Given the description of an element on the screen output the (x, y) to click on. 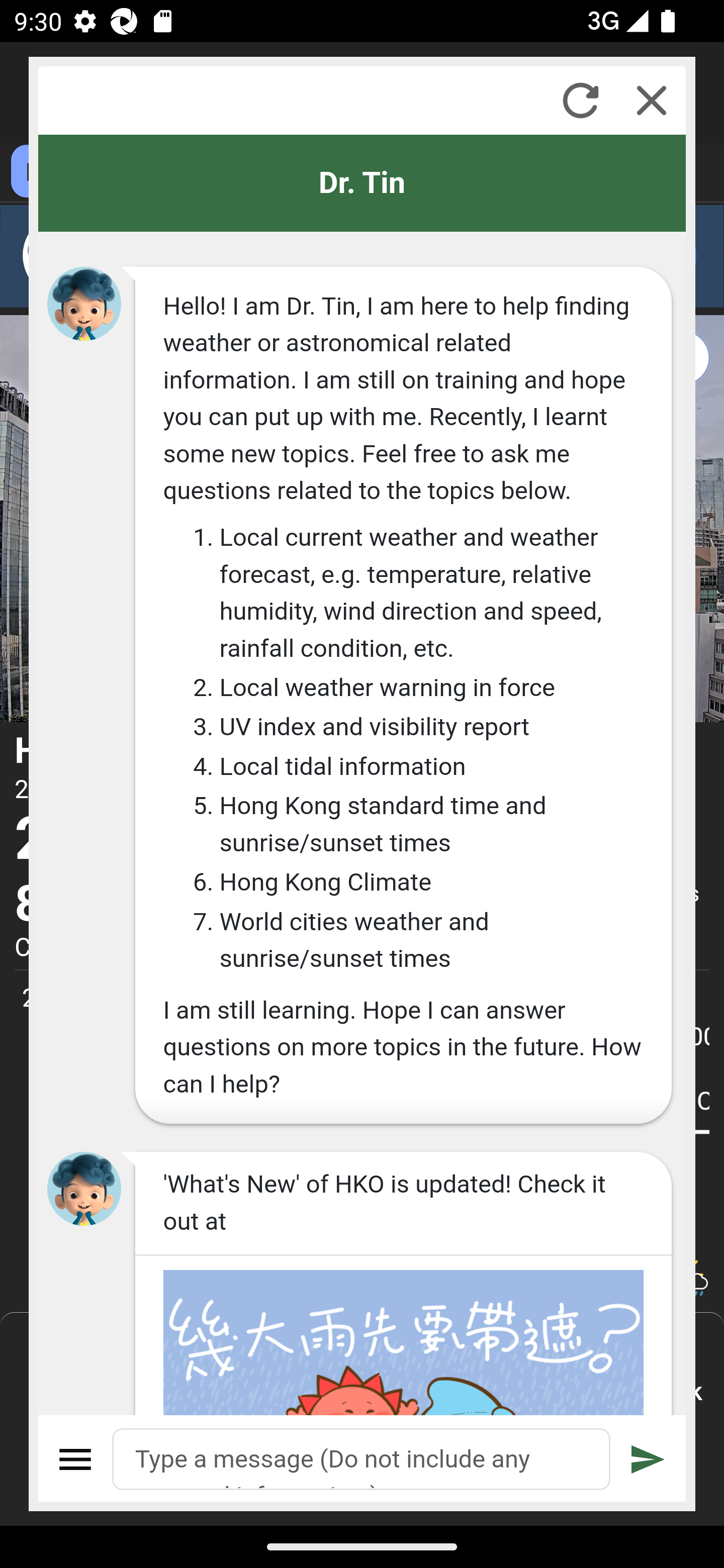
Refresh (580, 100)
Close (651, 100)
Menu (75, 1458)
Submit (648, 1458)
